Given the description of an element on the screen output the (x, y) to click on. 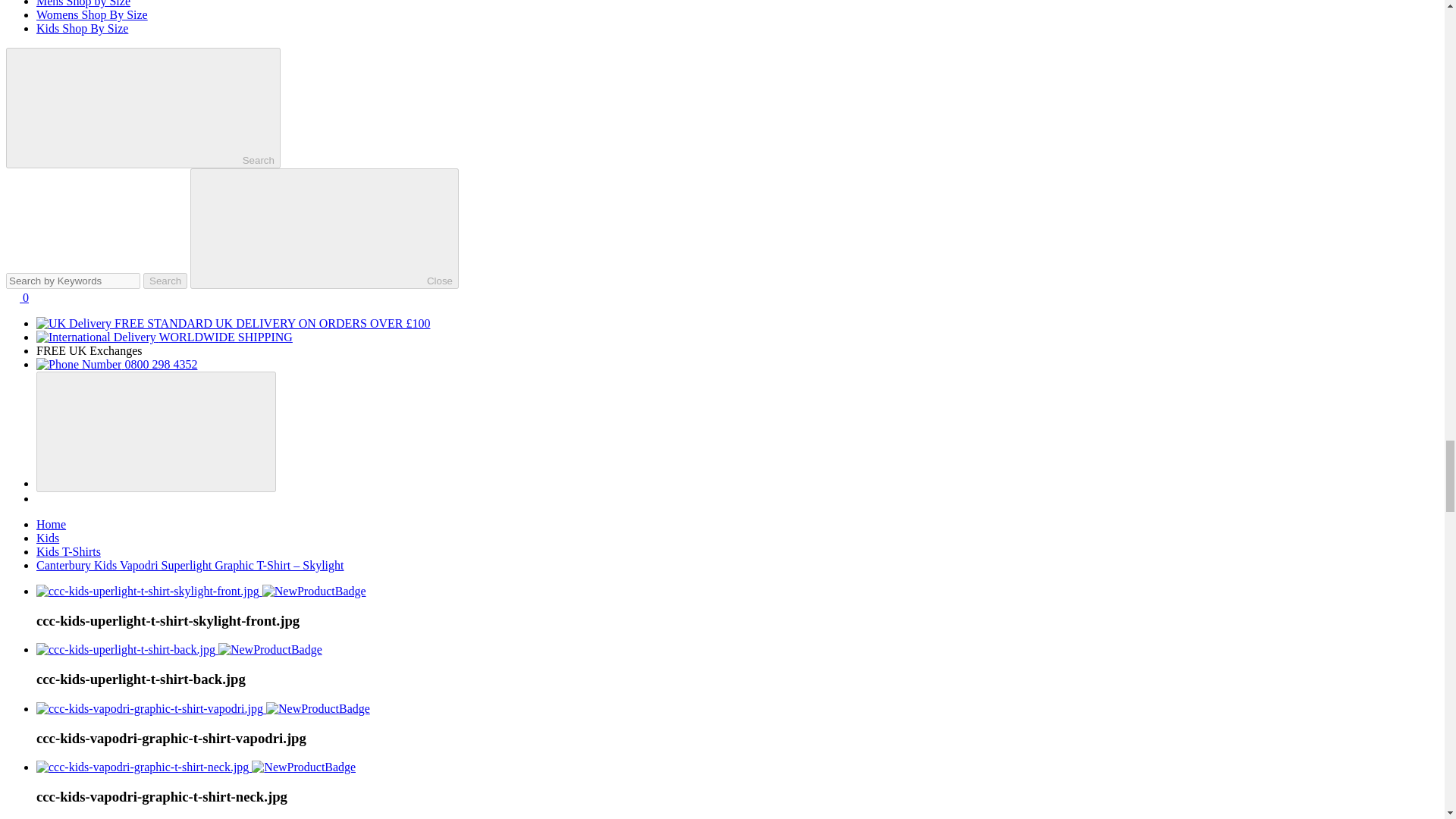
ccc-kids-uperlight-t-shirt-back.jpg (125, 649)
ccc-kids-vapodri-graphic-t-shirt-vapodri.jpg (149, 708)
ccc-kids-vapodri-graphic-t-shirt-neck.jpg (142, 766)
ccc-kids-uperlight-t-shirt-skylight-front.jpg (147, 591)
